Given the description of an element on the screen output the (x, y) to click on. 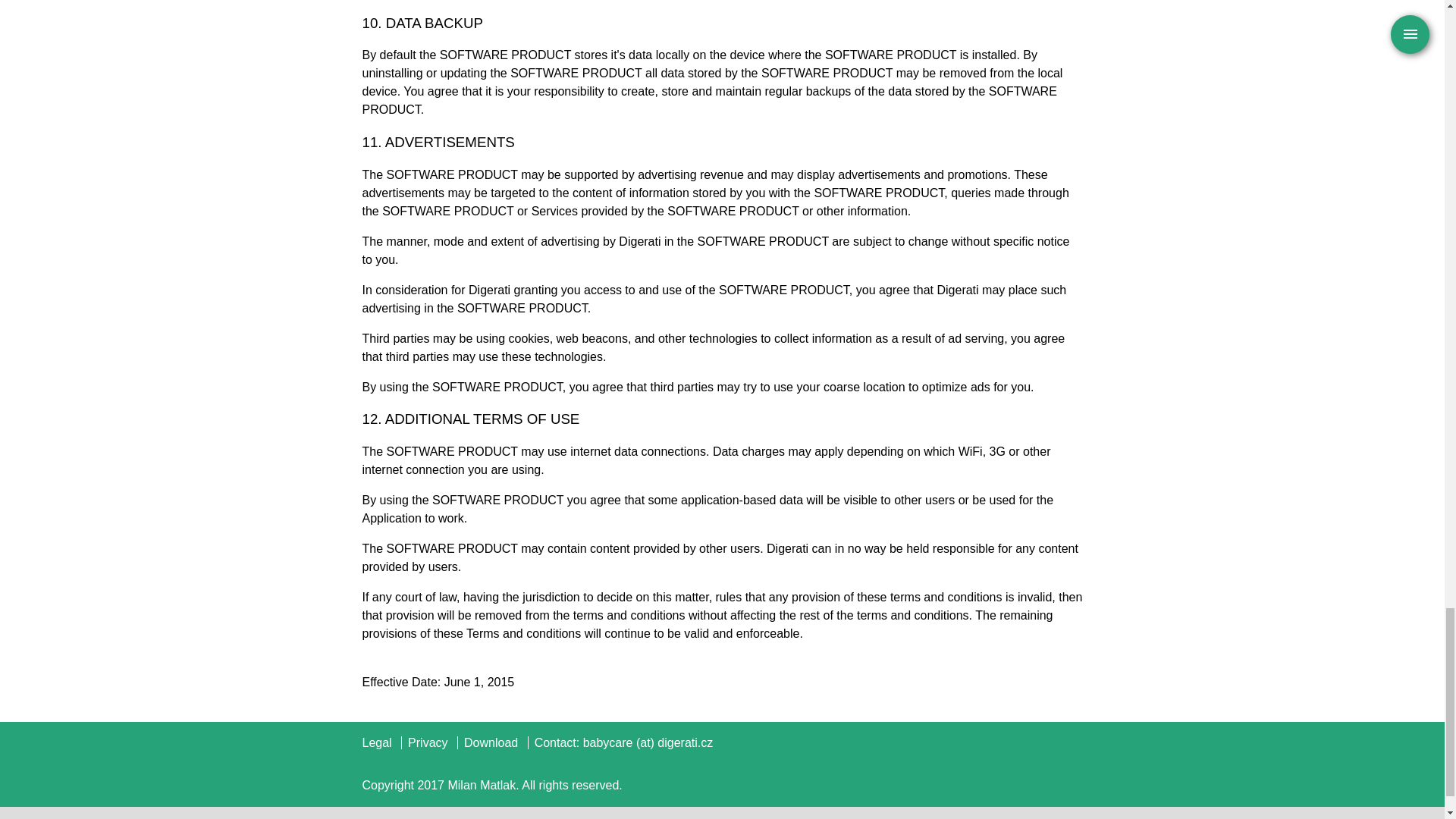
Download (491, 742)
Privacy (426, 742)
Legal (376, 742)
